Given the description of an element on the screen output the (x, y) to click on. 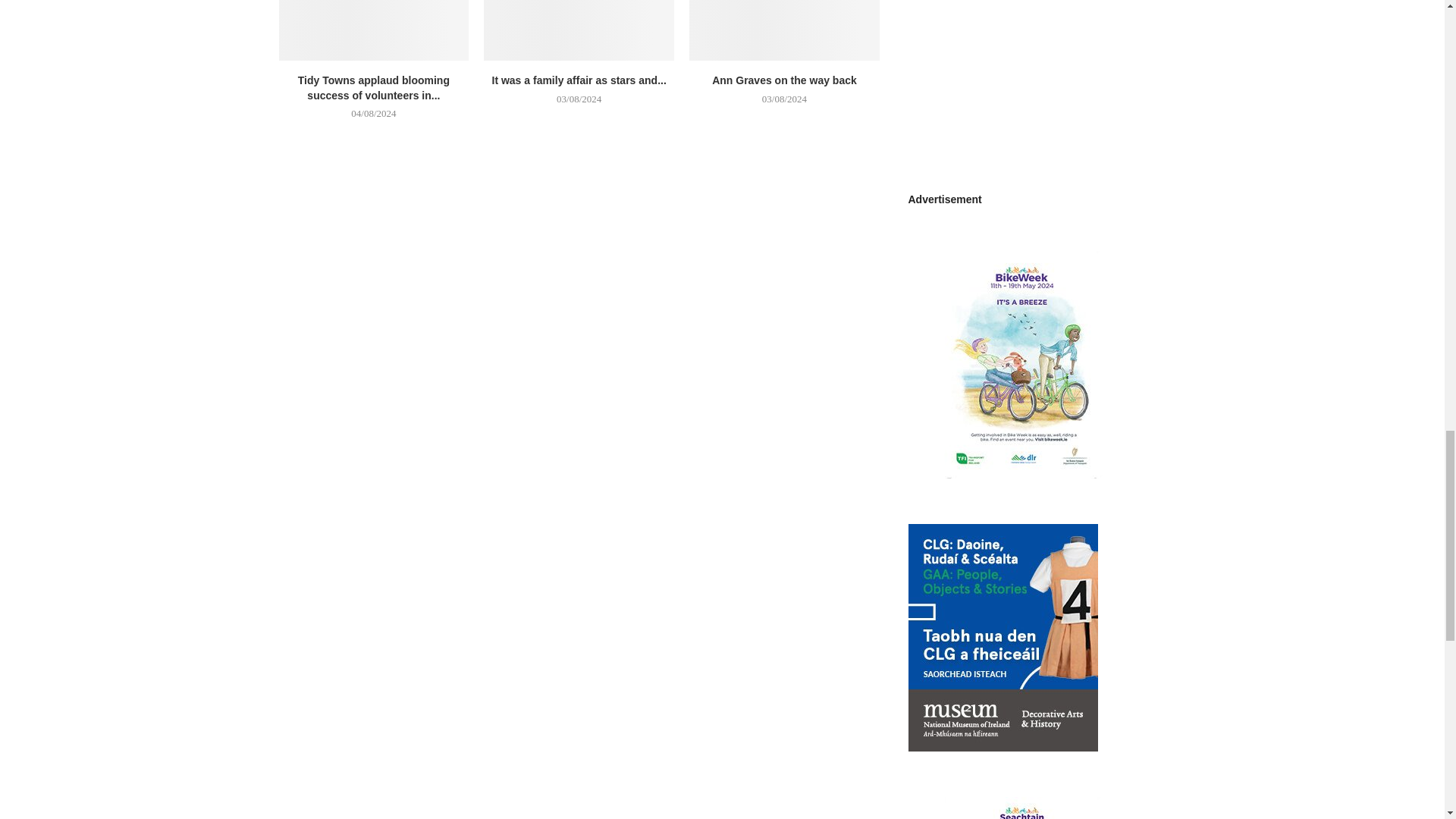
Tidy Towns applaud blooming success of volunteers in village (373, 30)
Ann Graves on the way back (783, 30)
